Given the description of an element on the screen output the (x, y) to click on. 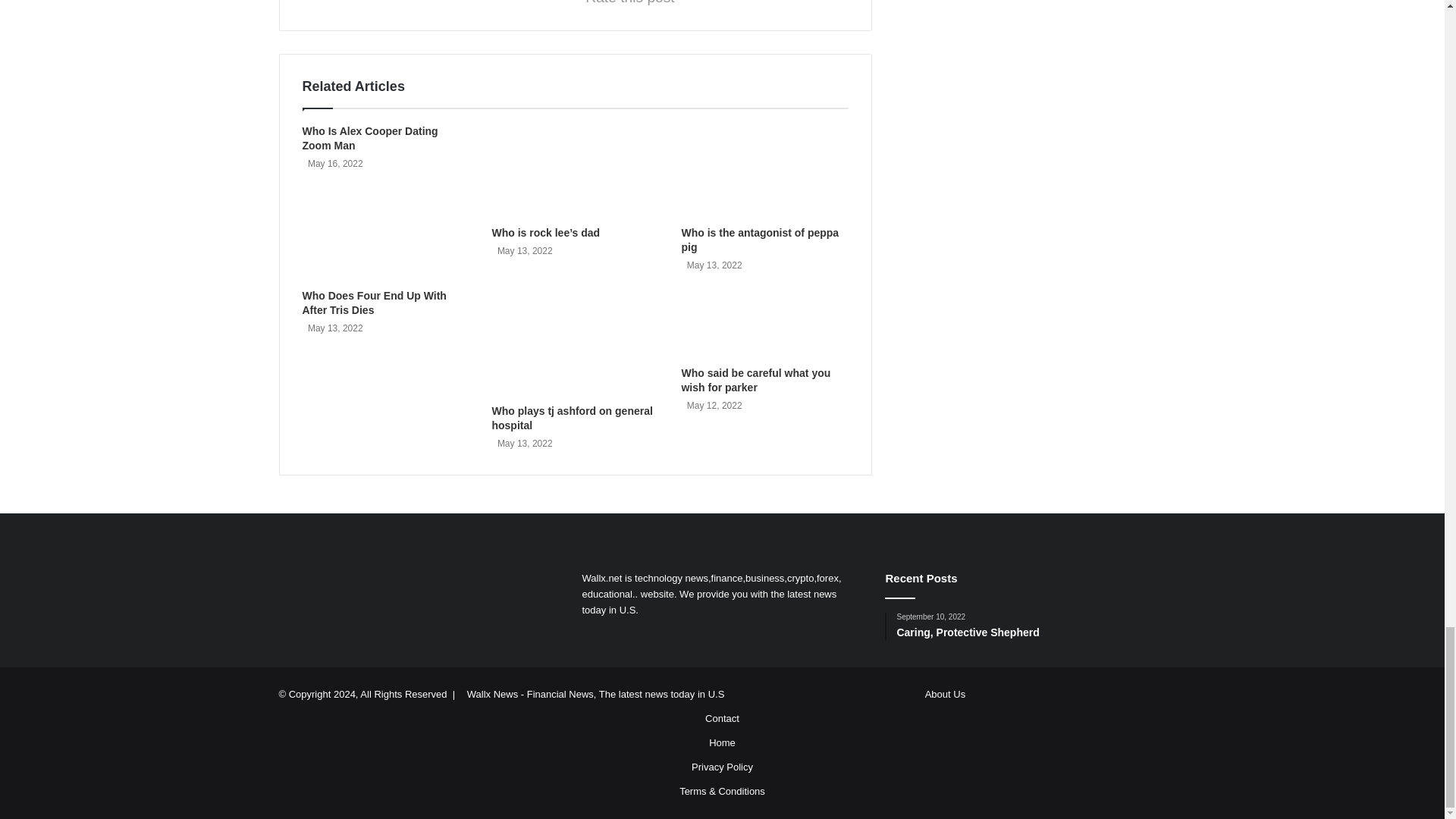
Who is the antagonist of peppa pig (759, 239)
Who Does Four End Up With After Tris Dies (373, 302)
Who plays tj ashford on general hospital (572, 417)
Who Is Alex Cooper Dating Zoom Man (369, 138)
Who said be careful what you wish for parker (755, 379)
